Given the description of an element on the screen output the (x, y) to click on. 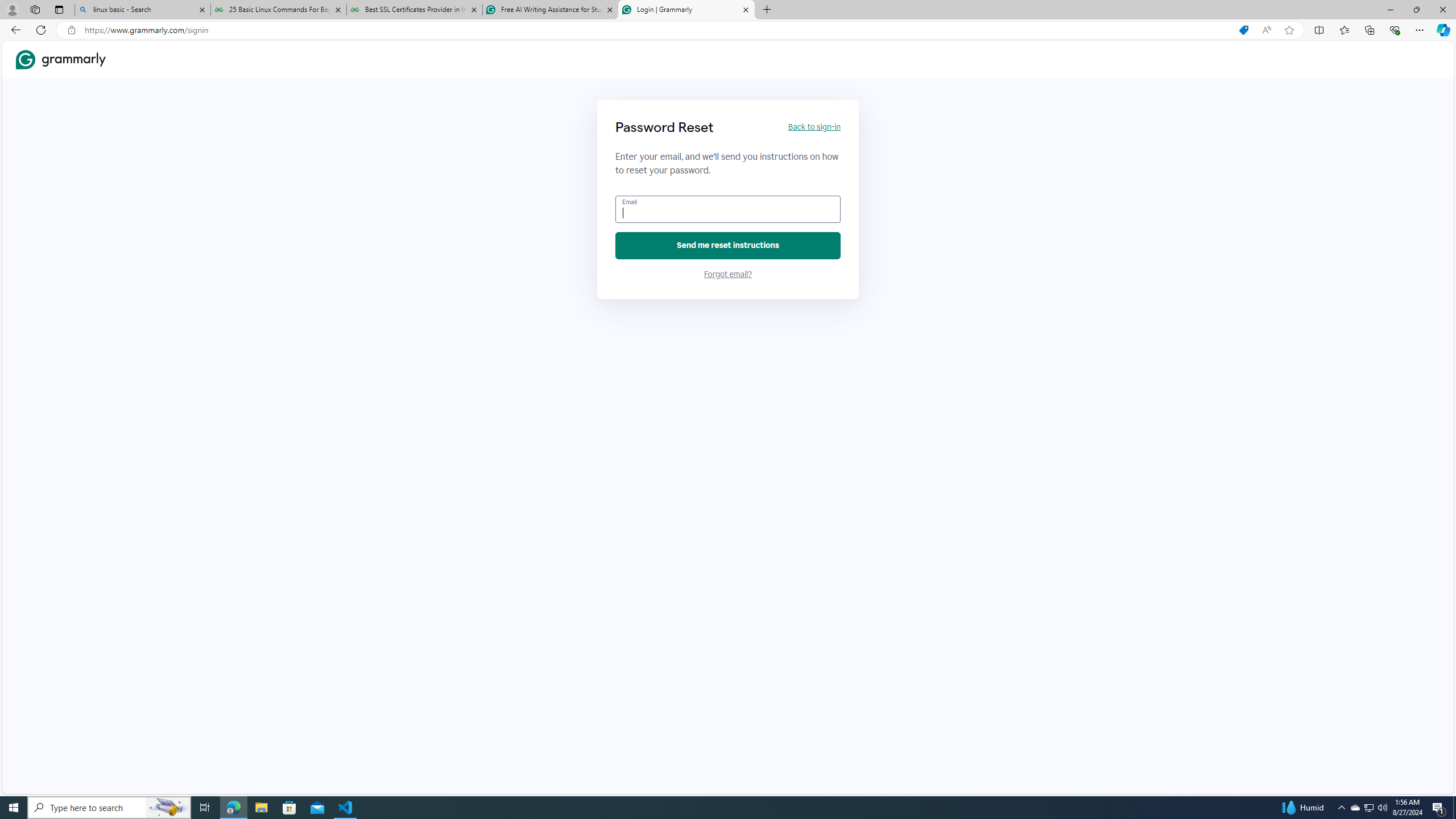
Email (727, 209)
Forgot email? (727, 274)
Grammarly Home (61, 58)
Grammarly Home (61, 59)
25 Basic Linux Commands For Beginners - GeeksforGeeks (277, 9)
Back to sign-in (813, 127)
